Given the description of an element on the screen output the (x, y) to click on. 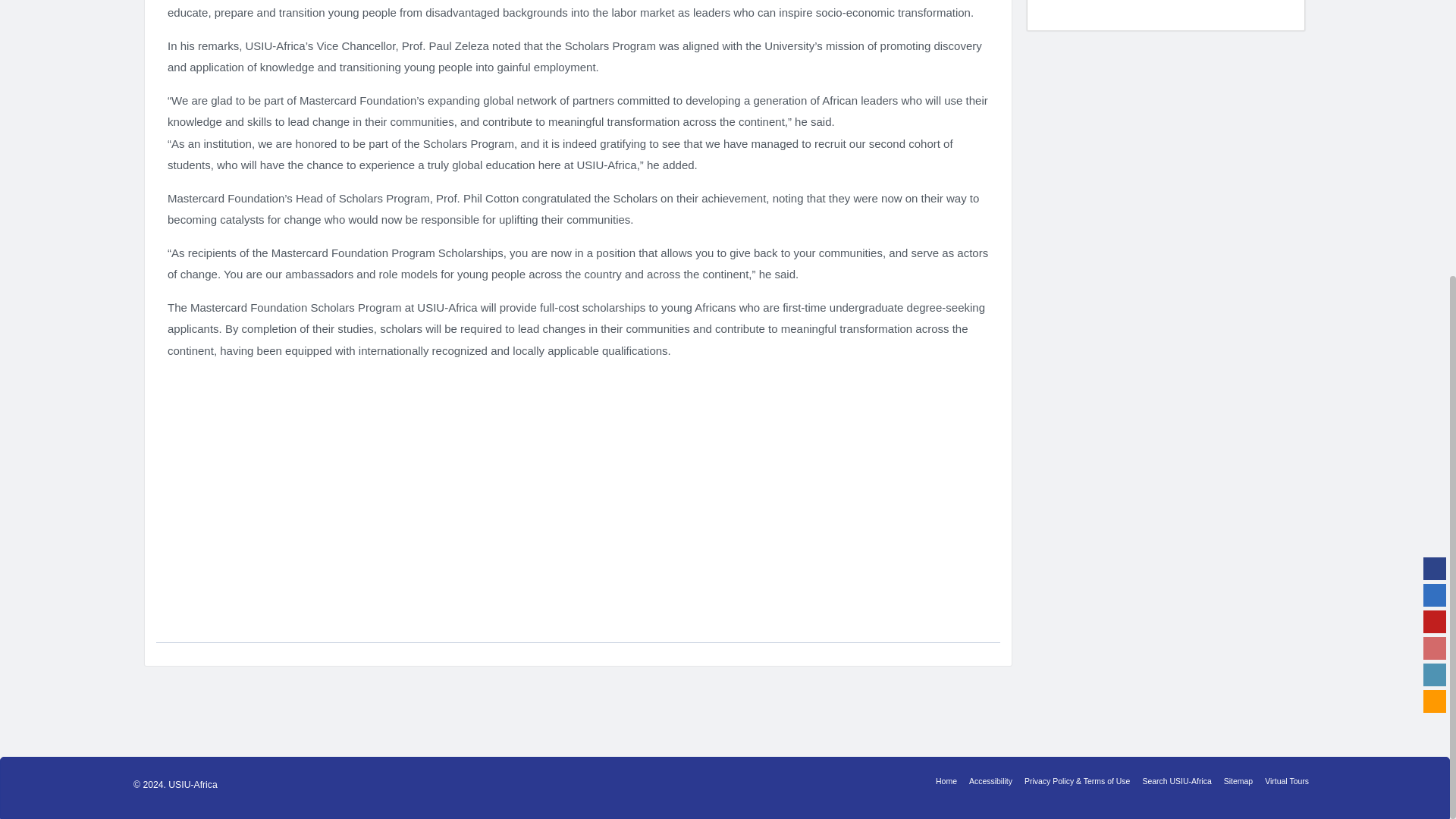
Instagram (1434, 232)
LinkedIn (1434, 259)
X (1434, 179)
Talk to us (1434, 285)
Facebook (1434, 152)
YouTube (1434, 205)
YouTube video player (577, 492)
